Given the description of an element on the screen output the (x, y) to click on. 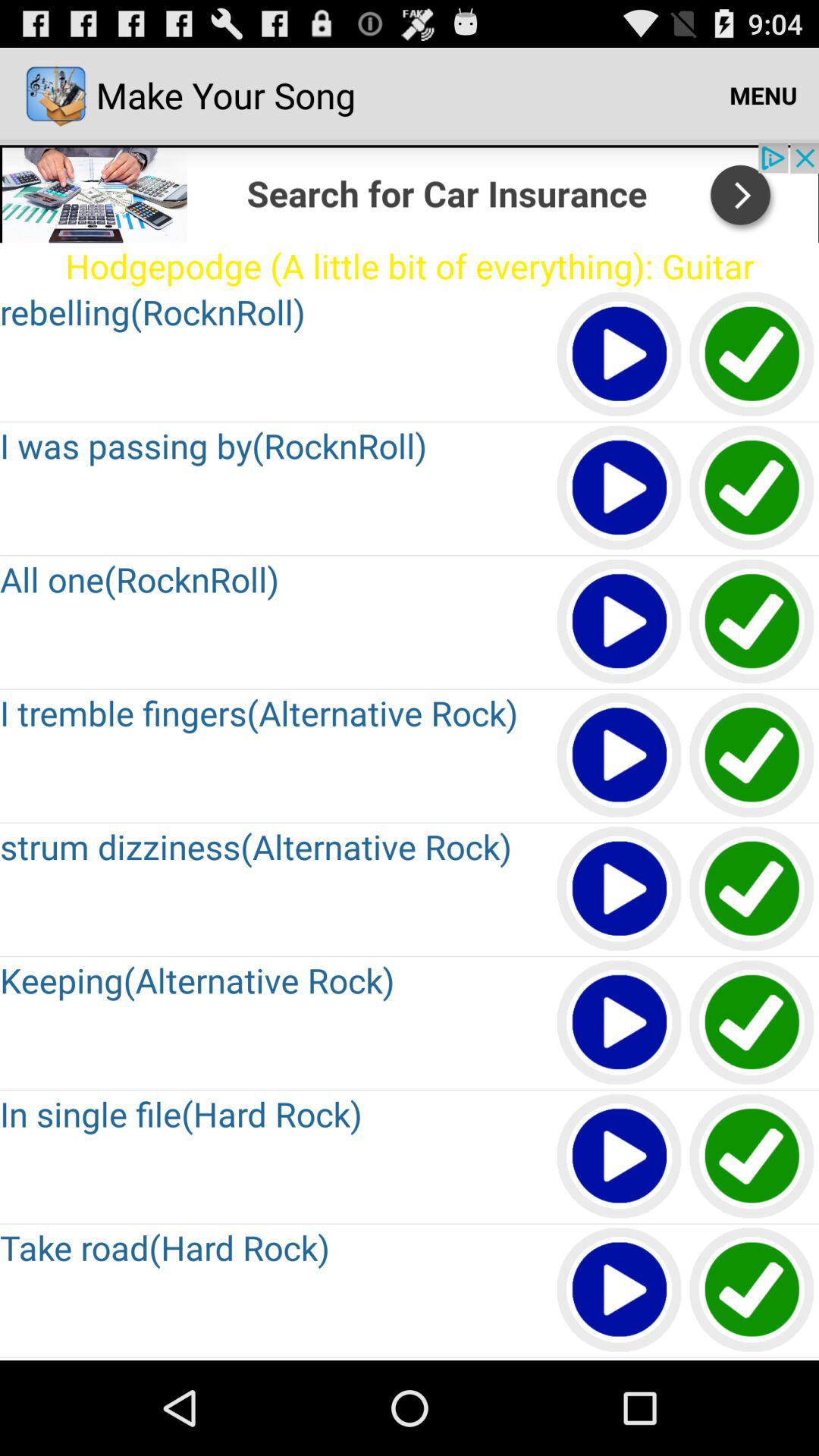
go to tick option (752, 1156)
